Given the description of an element on the screen output the (x, y) to click on. 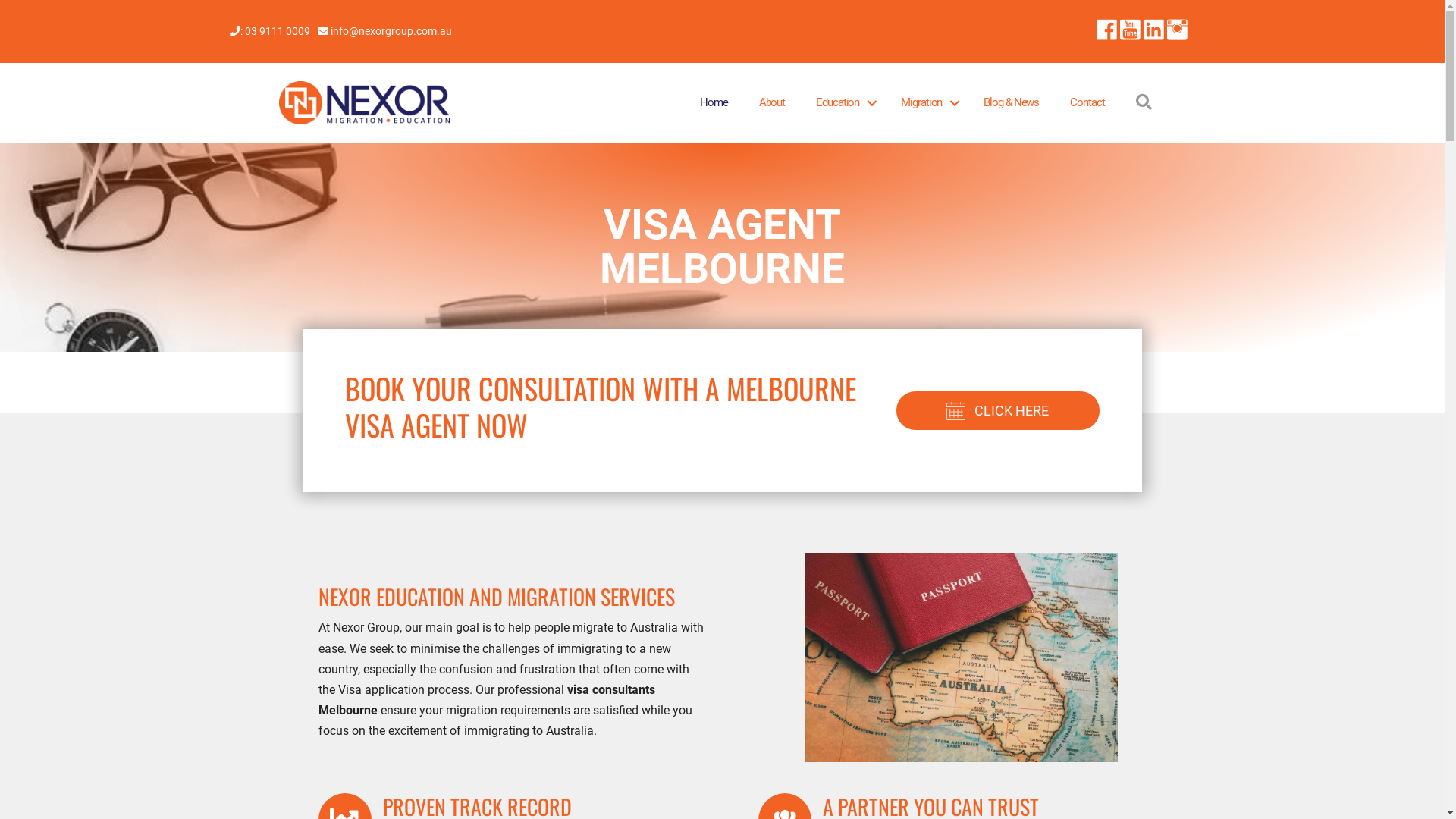
Education Element type: text (842, 103)
Blog & News Element type: text (1011, 103)
info@nexorgroup.com.au Element type: text (389, 31)
Passports And Map Element type: hover (960, 657)
: 03 9111 0009 Element type: text (284, 31)
Contact Element type: text (1086, 103)
Home Element type: text (713, 103)
CLICK HERE Element type: text (998, 410)
About Element type: text (771, 103)
Migration Element type: text (926, 103)
Nexor Logo Retina Element type: hover (364, 102)
